Given the description of an element on the screen output the (x, y) to click on. 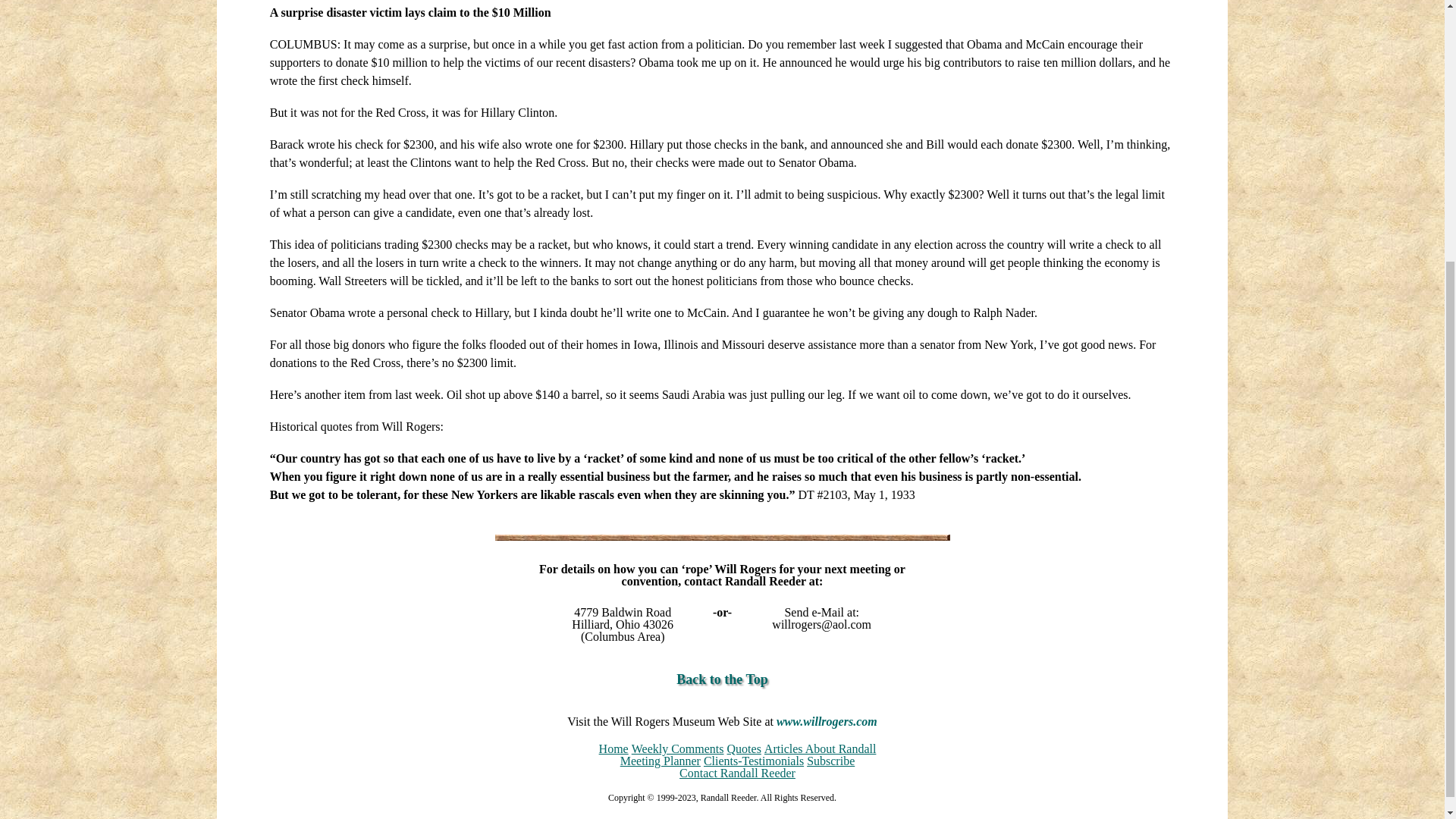
Contact Randall Reeder (736, 772)
www.willrogers.com (826, 721)
Clients-Testimonials (753, 760)
Subscribe (830, 760)
Weekly Comments (677, 748)
Home (613, 748)
Back to the Top (722, 679)
Quotes (743, 748)
Articles About Randall (820, 748)
Meeting Planner (660, 760)
